Given the description of an element on the screen output the (x, y) to click on. 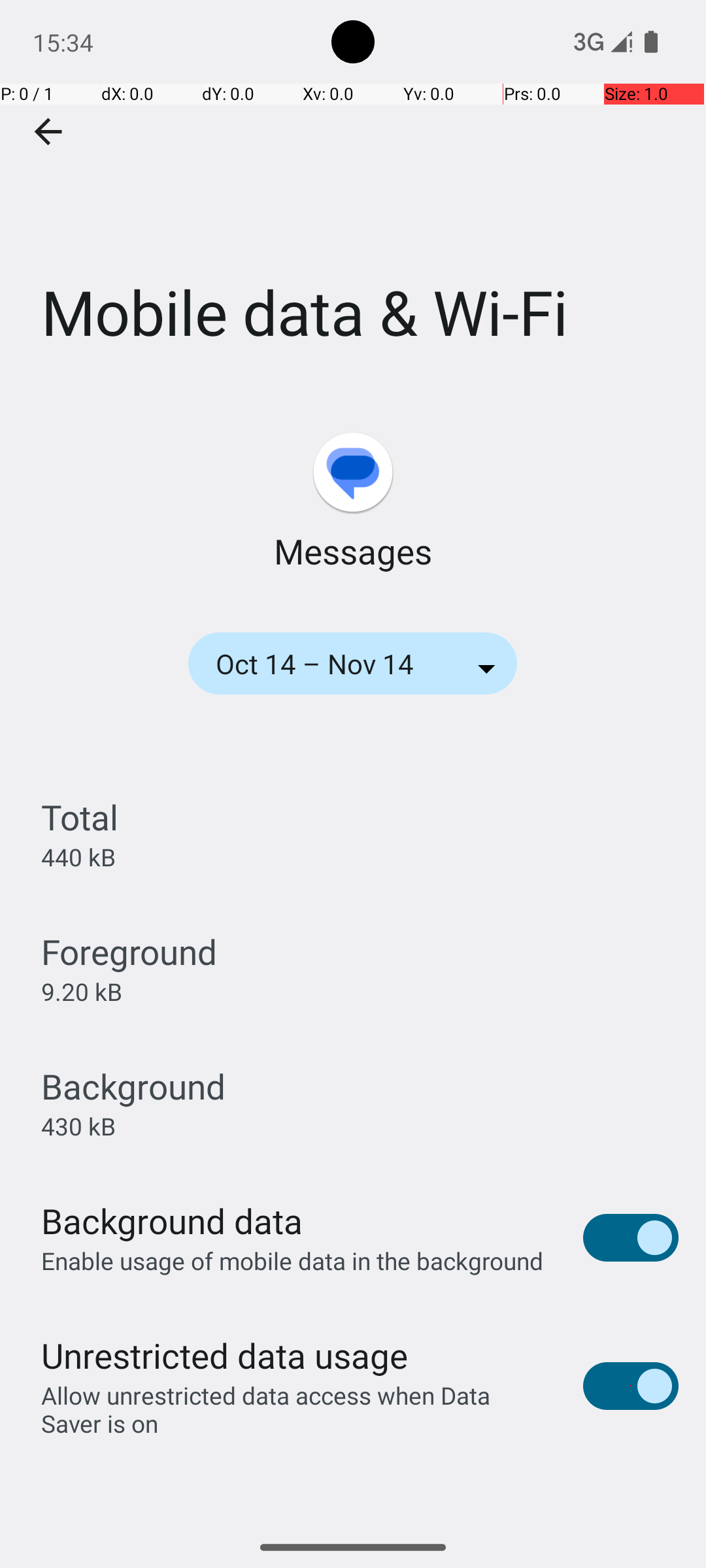
Mobile data & Wi‑Fi Element type: android.widget.FrameLayout (353, 195)
Navigate up Element type: android.widget.ImageButton (48, 131)
Total Element type: android.widget.TextView (79, 816)
440 kB Element type: android.widget.TextView (78, 856)
Foreground Element type: android.widget.TextView (129, 951)
9.20 kB Element type: android.widget.TextView (81, 991)
Background Element type: android.widget.TextView (133, 1085)
430 kB Element type: android.widget.TextView (78, 1125)
Background data Element type: android.widget.TextView (171, 1220)
Enable usage of mobile data in the background Element type: android.widget.TextView (292, 1260)
Unrestricted data usage Element type: android.widget.TextView (224, 1355)
Allow unrestricted data access when Data Saver is on Element type: android.widget.TextView (298, 1408)
Oct 14 – Nov 14 Element type: android.widget.TextView (331, 663)
